Given the description of an element on the screen output the (x, y) to click on. 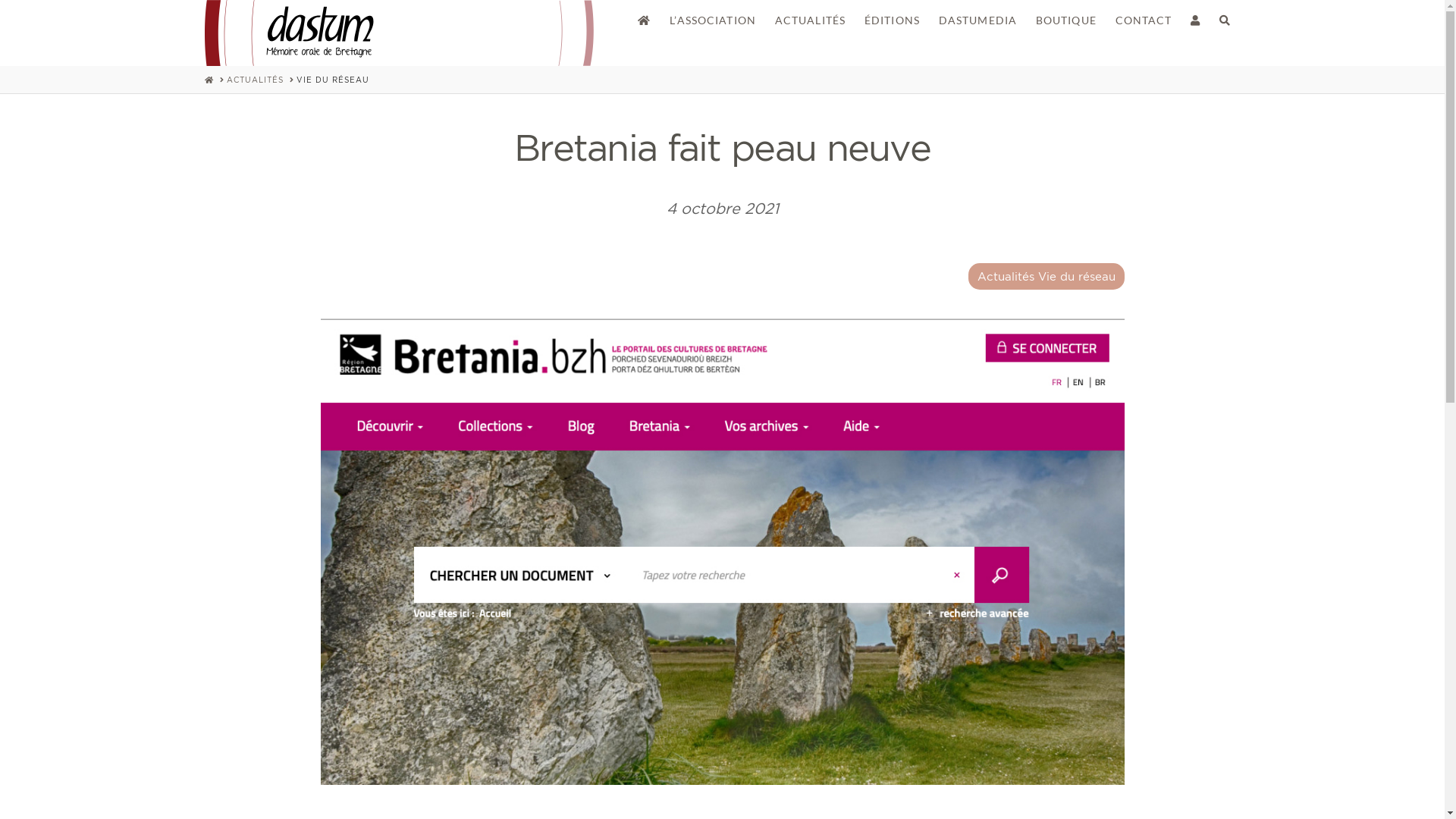
HOME Element type: text (208, 79)
BOUTIQUE Element type: text (1065, 15)
CONTACT Element type: text (1143, 15)
DASTUMEDIA Element type: text (977, 15)
